Given the description of an element on the screen output the (x, y) to click on. 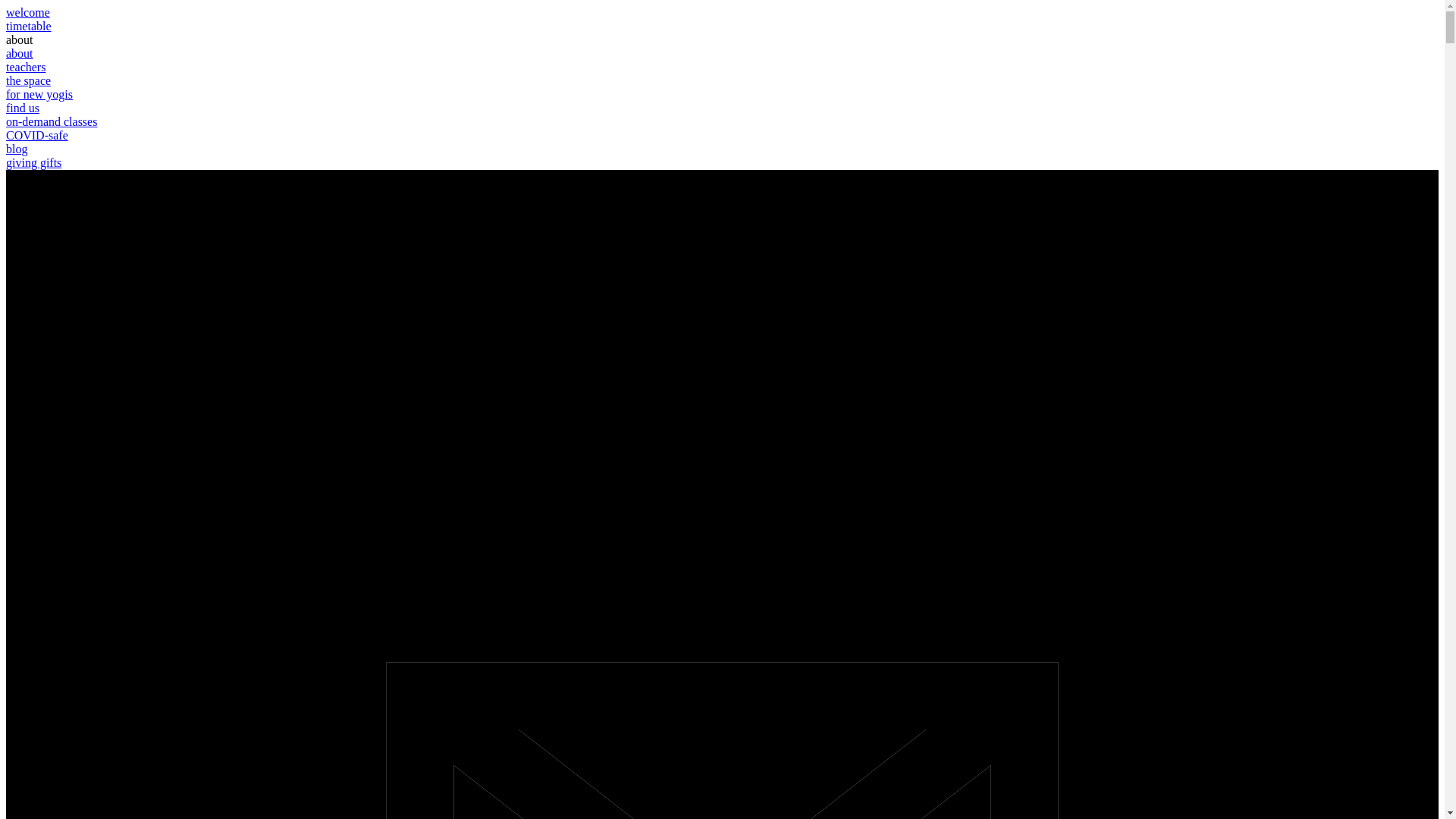
for new yogis Element type: text (39, 93)
the space Element type: text (28, 80)
giving gifts Element type: text (33, 162)
about Element type: text (19, 53)
about Element type: text (19, 39)
timetable Element type: text (28, 25)
find us Element type: text (22, 107)
welcome Element type: text (28, 12)
COVID-safe Element type: text (37, 134)
teachers Element type: text (25, 66)
on-demand classes Element type: text (51, 121)
blog Element type: text (16, 148)
